Given the description of an element on the screen output the (x, y) to click on. 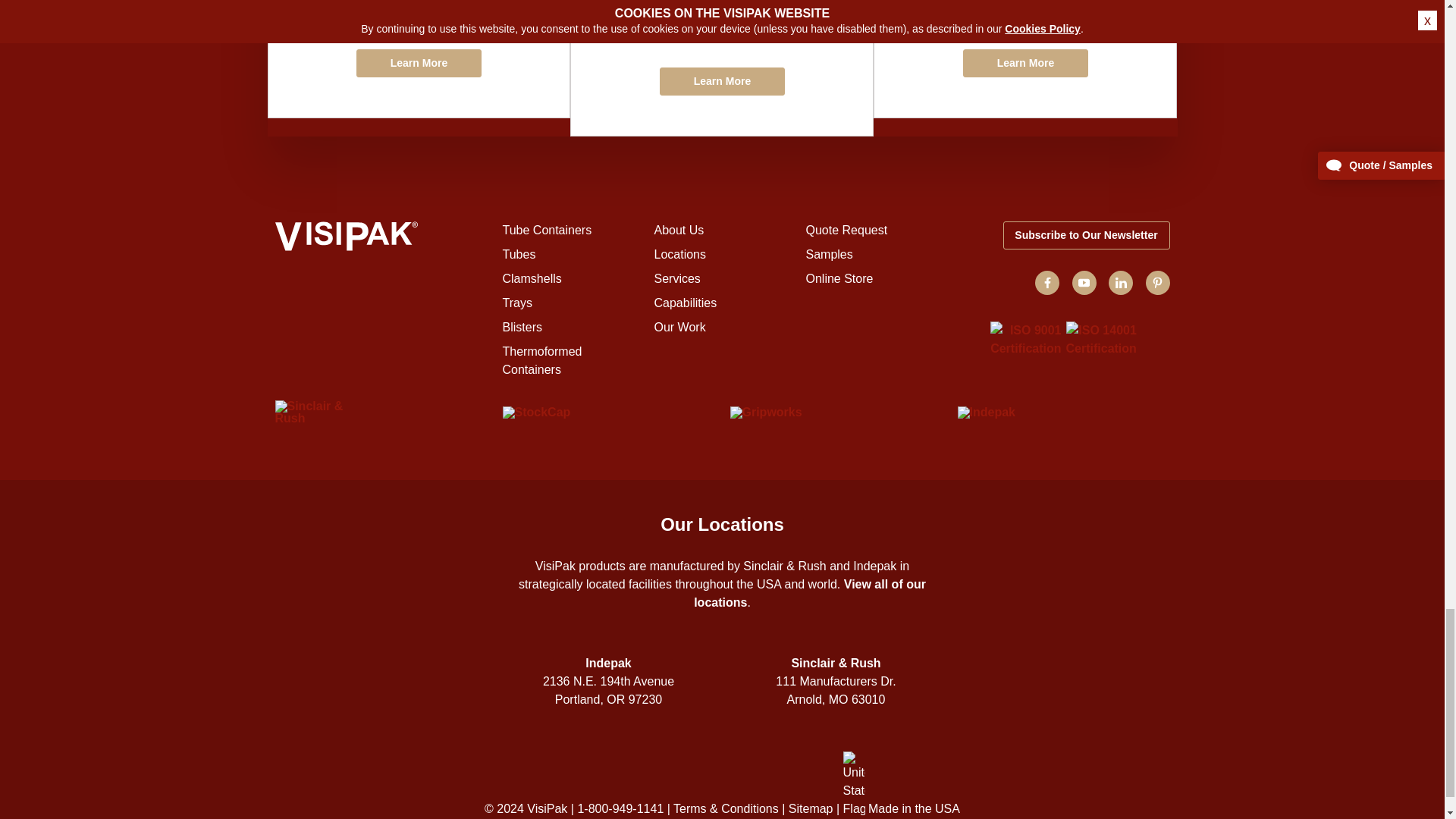
Contact Us (721, 67)
Shop Online (1025, 58)
VisiPak (380, 238)
Request a Quote or Sample (418, 58)
